Given the description of an element on the screen output the (x, y) to click on. 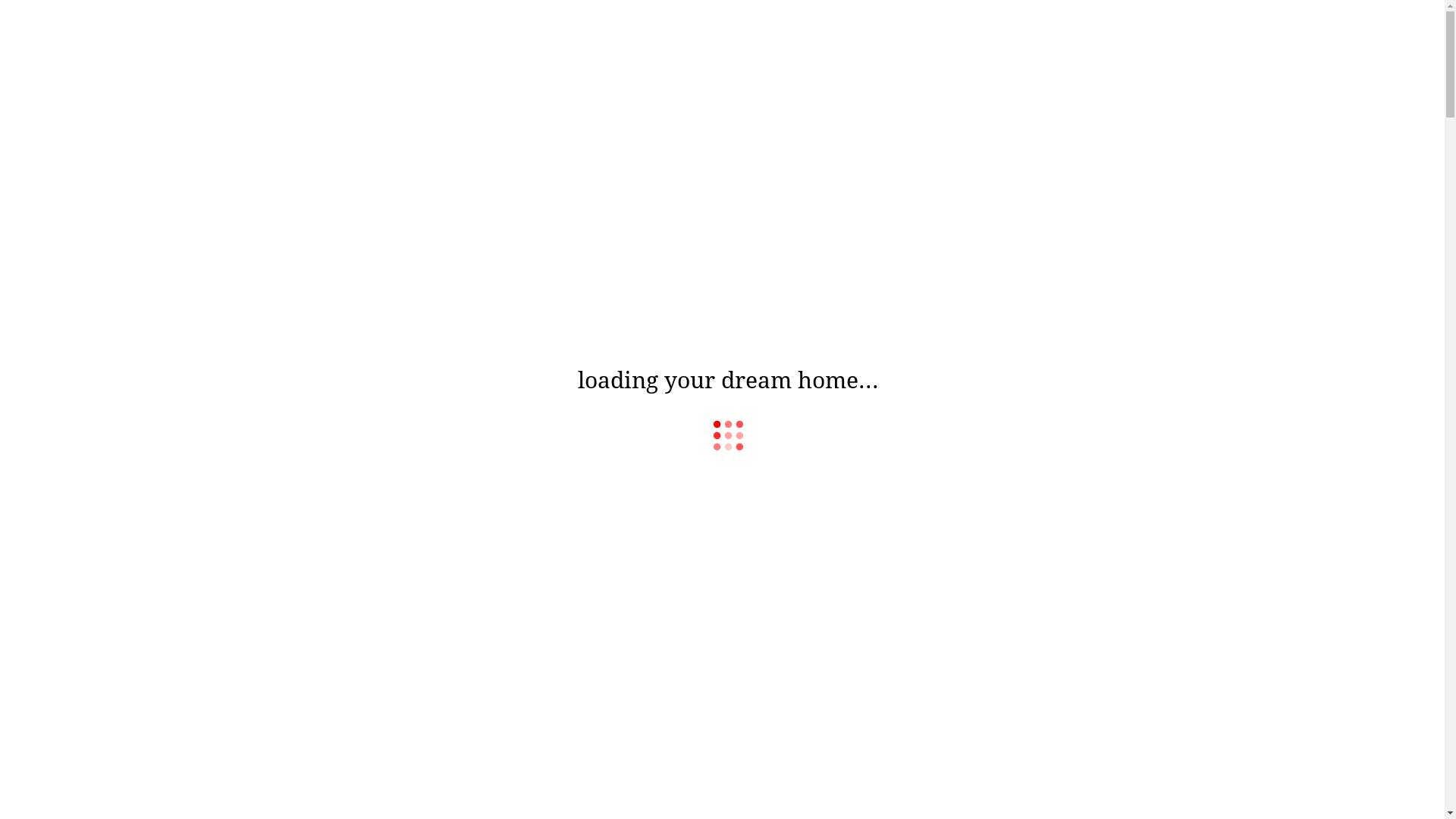
FEATURES Element type: text (70, 94)
331 GOLDEN GATE AVENUE Element type: text (722, 709)
GALLERY Element type: text (66, 79)
LOCATION Element type: text (70, 110)
SCHEDULE & CONTACT Element type: text (100, 125)
Toggle navigation Element type: text (50, 37)
331 Golden Gate Avenue Element type: text (221, 37)
